Given the description of an element on the screen output the (x, y) to click on. 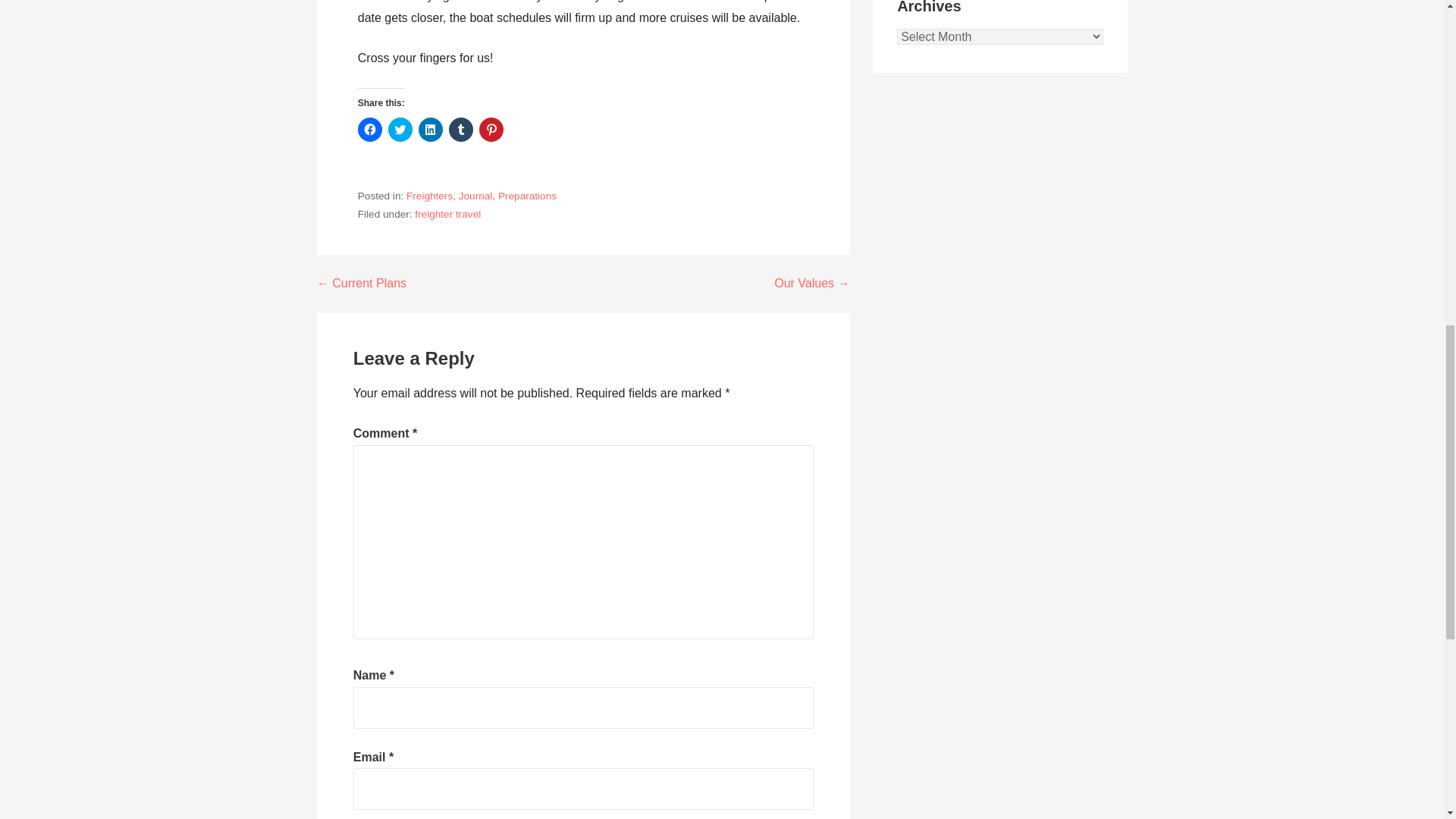
Click to share on Pinterest (491, 129)
Click to share on Facebook (369, 129)
Preparations (526, 195)
Click to share on LinkedIn (430, 129)
freighter travel (447, 214)
Freighters (429, 195)
Click to share on Twitter (400, 129)
Click to share on Tumblr (460, 129)
Journal (475, 195)
